Given the description of an element on the screen output the (x, y) to click on. 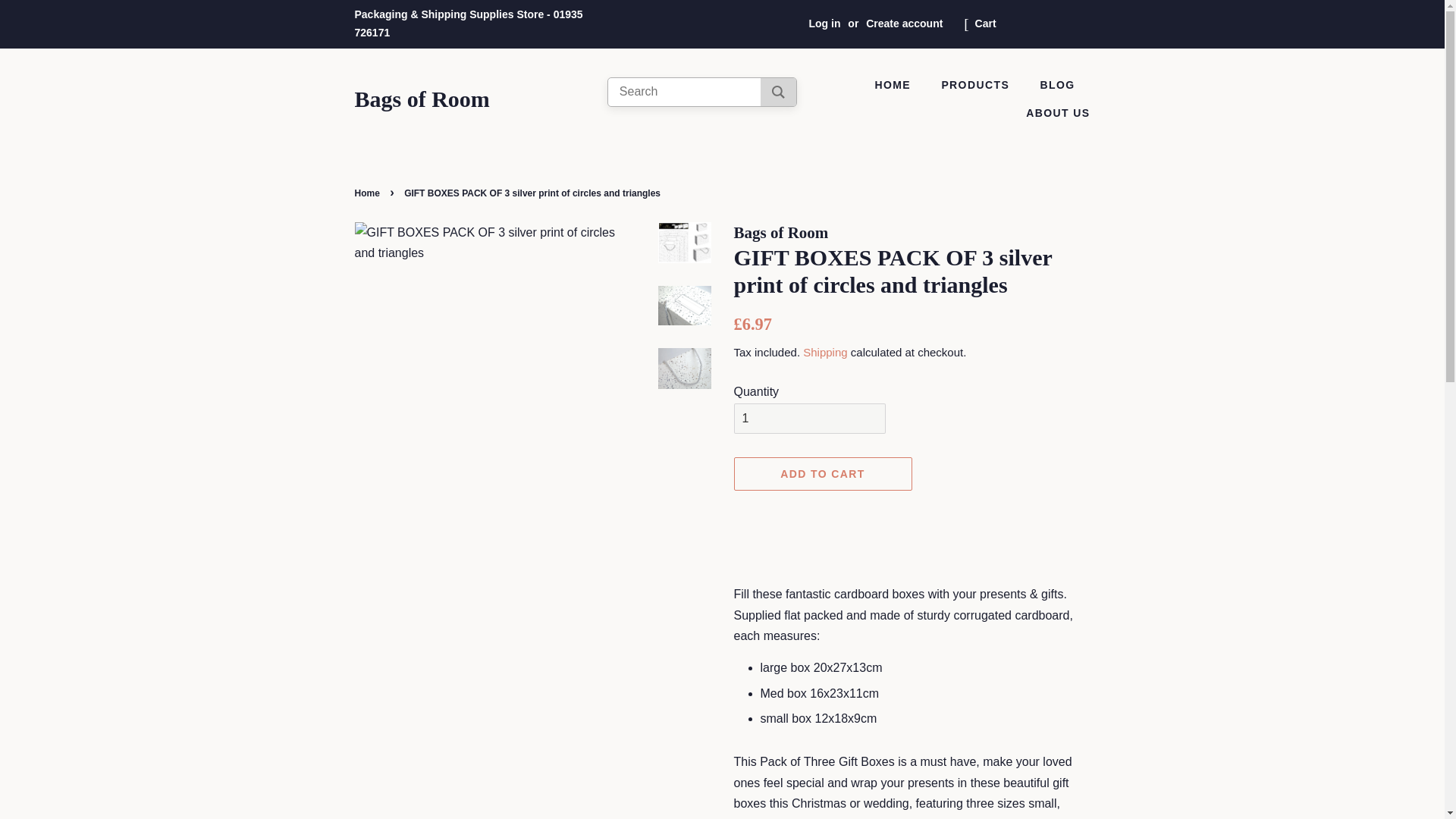
ABOUT US (1051, 113)
PRODUCTS (977, 85)
Cart (985, 24)
Bags of Room (422, 99)
Create account (904, 23)
1 (809, 418)
BLOG (1058, 85)
ADD TO CART (822, 473)
Log in (824, 23)
HOME (900, 85)
